Given the description of an element on the screen output the (x, y) to click on. 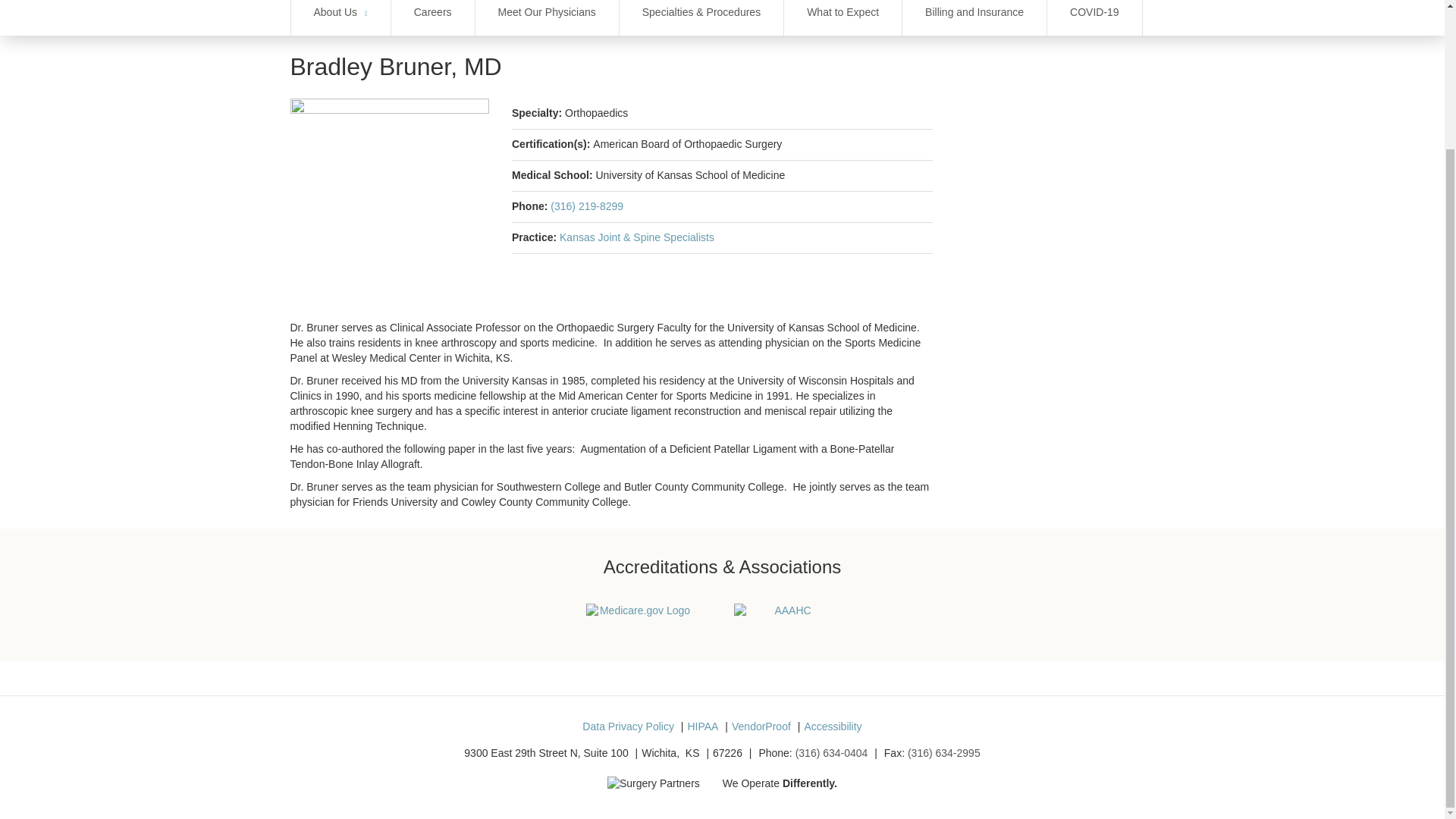
Billing and Insurance (974, 18)
Meet Our Physicians (547, 18)
Billing and Insurance (974, 18)
Careers (432, 18)
What to Expect (842, 18)
VendorProof (761, 726)
COVID-19 (1093, 18)
About Us (340, 18)
HIPAA (702, 726)
Data Privacy Policy (628, 726)
Accessibility (832, 726)
